Given the description of an element on the screen output the (x, y) to click on. 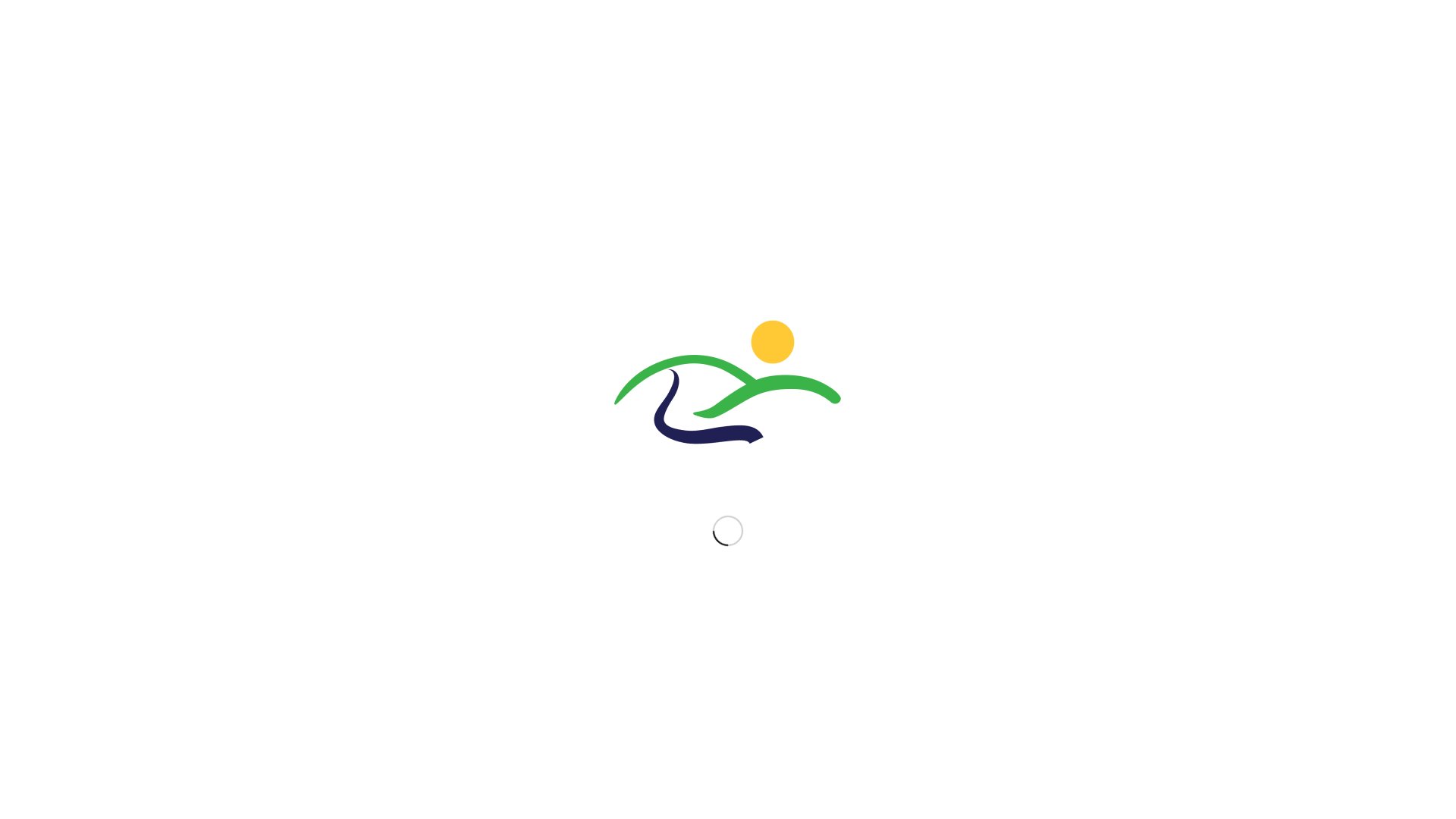
enquiries@ruralbusinesssupport.org.au Element type: text (651, 558)
Facebook Element type: hover (993, 698)
Privacy Policy Element type: text (596, 574)
DONATE NOW Element type: text (1044, 11)
Contact us Element type: text (884, 68)
Divine Space Element type: text (593, 697)
Small Business Financial Counselling Element type: text (819, 544)
Landowner Information Service Element type: text (819, 575)
LinkedIn Element type: hover (1038, 698)
Instagram Element type: hover (1061, 698)
Instagram Element type: hover (1061, 67)
Useful links Element type: text (819, 621)
Loading Element type: hover (727, 386)
Where we cover Element type: text (801, 68)
RBS+charity_5 Element type: hover (507, 68)
Facebook Element type: hover (993, 67)
Twitter Element type: hover (1015, 67)
Relief Fund Element type: text (819, 598)
Who we are Element type: text (640, 68)
LinkedIn Element type: hover (1038, 67)
Twitter Element type: hover (1015, 698)
What we do Element type: text (715, 68)
Rural Financial Counselling Service Element type: text (819, 505)
